Given the description of an element on the screen output the (x, y) to click on. 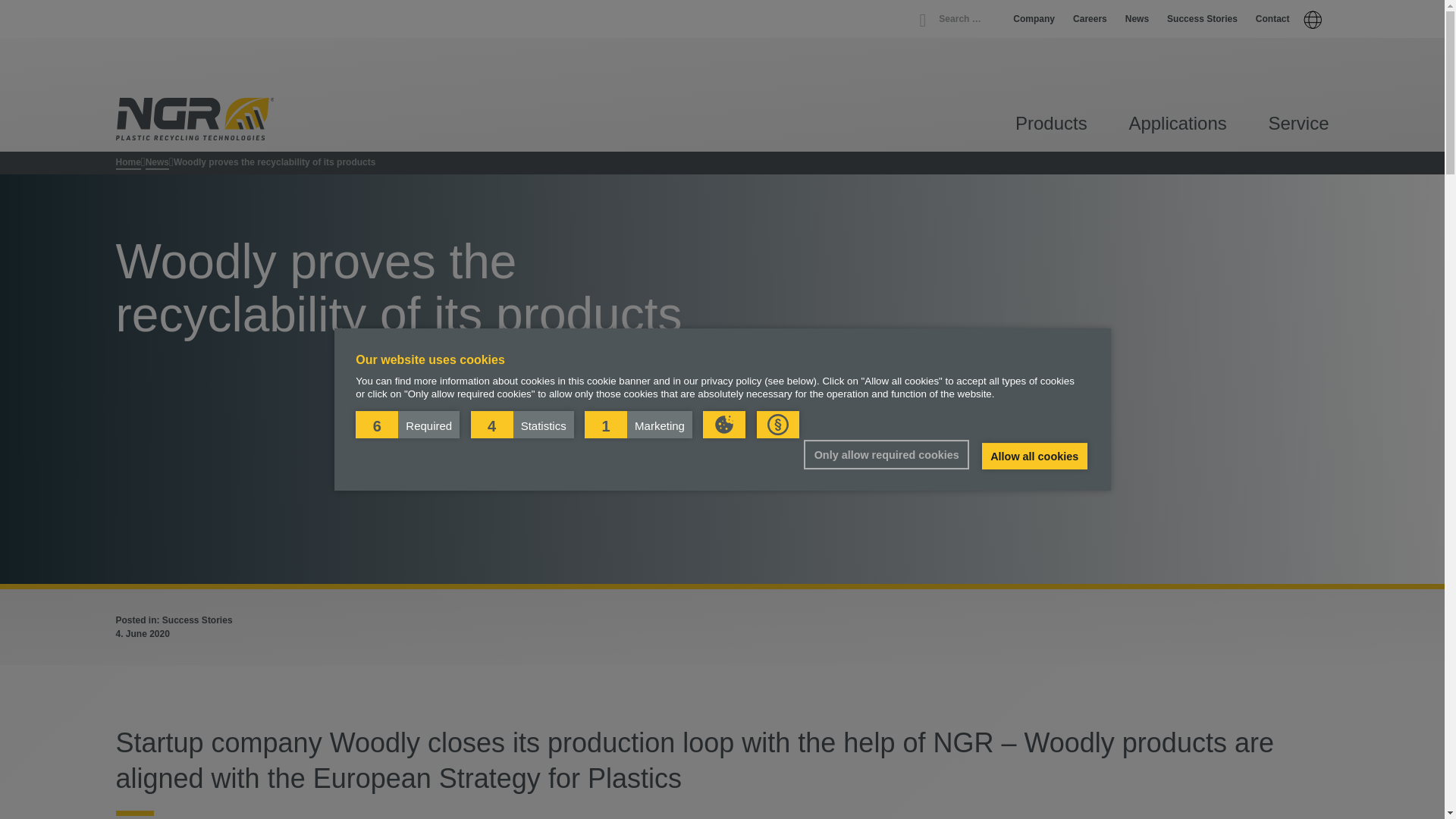
Contact (1272, 18)
Applications (1176, 125)
Only allow required cookies (886, 454)
Success Stories (1202, 18)
Careers (1089, 18)
About cookies (724, 424)
Privacy statement... (778, 424)
Company (1033, 18)
News (1136, 18)
Allow all cookies (1034, 456)
Products (1050, 125)
